Given the description of an element on the screen output the (x, y) to click on. 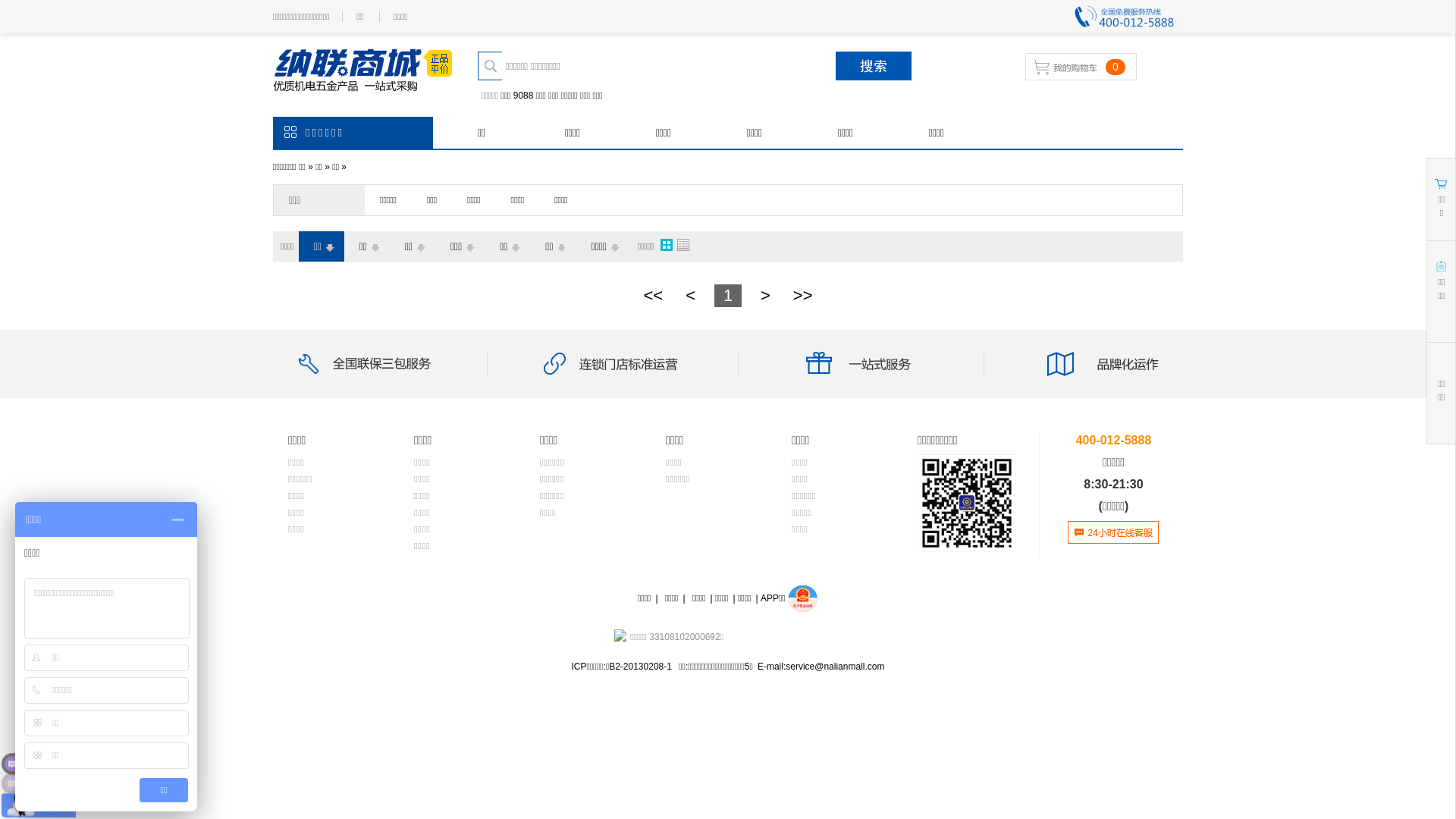
0 Element type: text (1093, 67)
>> Element type: text (802, 294)
9088 Element type: text (523, 95)
< Element type: text (690, 294)
<< Element type: text (652, 294)
> Element type: text (765, 294)
1 Element type: text (727, 295)
